Given the description of an element on the screen output the (x, y) to click on. 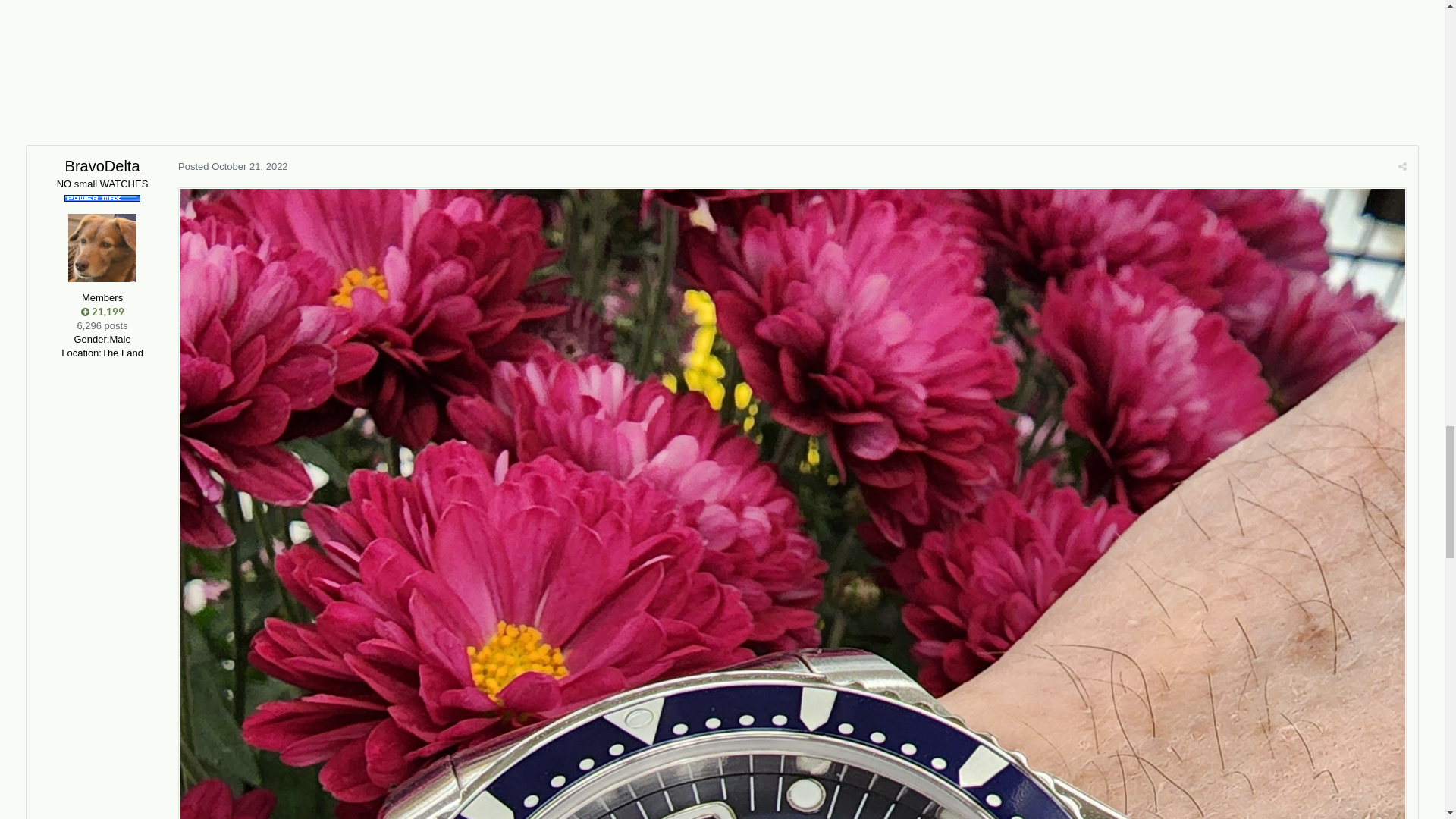
21 Element type: text (1403, 445)
Page 7 of 7   Element type: text (256, 538)
Twitter Feed Element type: text (182, 123)
Posted October 21, 2022 Element type: text (233, 581)
5 Element type: text (162, 539)
greg_r's Lounge - for watch chat Element type: text (296, 467)
MAIN FORUM Element type: text (115, 157)
Home Element type: text (50, 157)
6 Element type: text (184, 539)
Sign in to follow this Element type: text (1267, 443)
Calendar Element type: text (107, 123)
3 Element type: text (118, 539)
greg_r's Lounge - for watch chat Element type: text (231, 157)
Followers Element type: text (1345, 444)
2 Element type: text (96, 539)
Sign Up Element type: text (1381, 24)
Browse Element type: text (62, 95)
RWG Trusted Dealer List Element type: text (255, 95)
4 Element type: text (140, 539)
First page Element type: hover (36, 539)
Existing user? Sign In   Element type: text (1279, 25)
Activity Element type: text (138, 95)
RWG's Birthday Raffle- Win one of two watches! CLICK HERE Element type: text (721, 411)
Share this post Element type: hover (1402, 582)
Advertisement Element type: hover (301, 290)
PREV Element type: text (66, 539)
7 Element type: text (206, 539)
Forums Element type: text (44, 123)
